Given the description of an element on the screen output the (x, y) to click on. 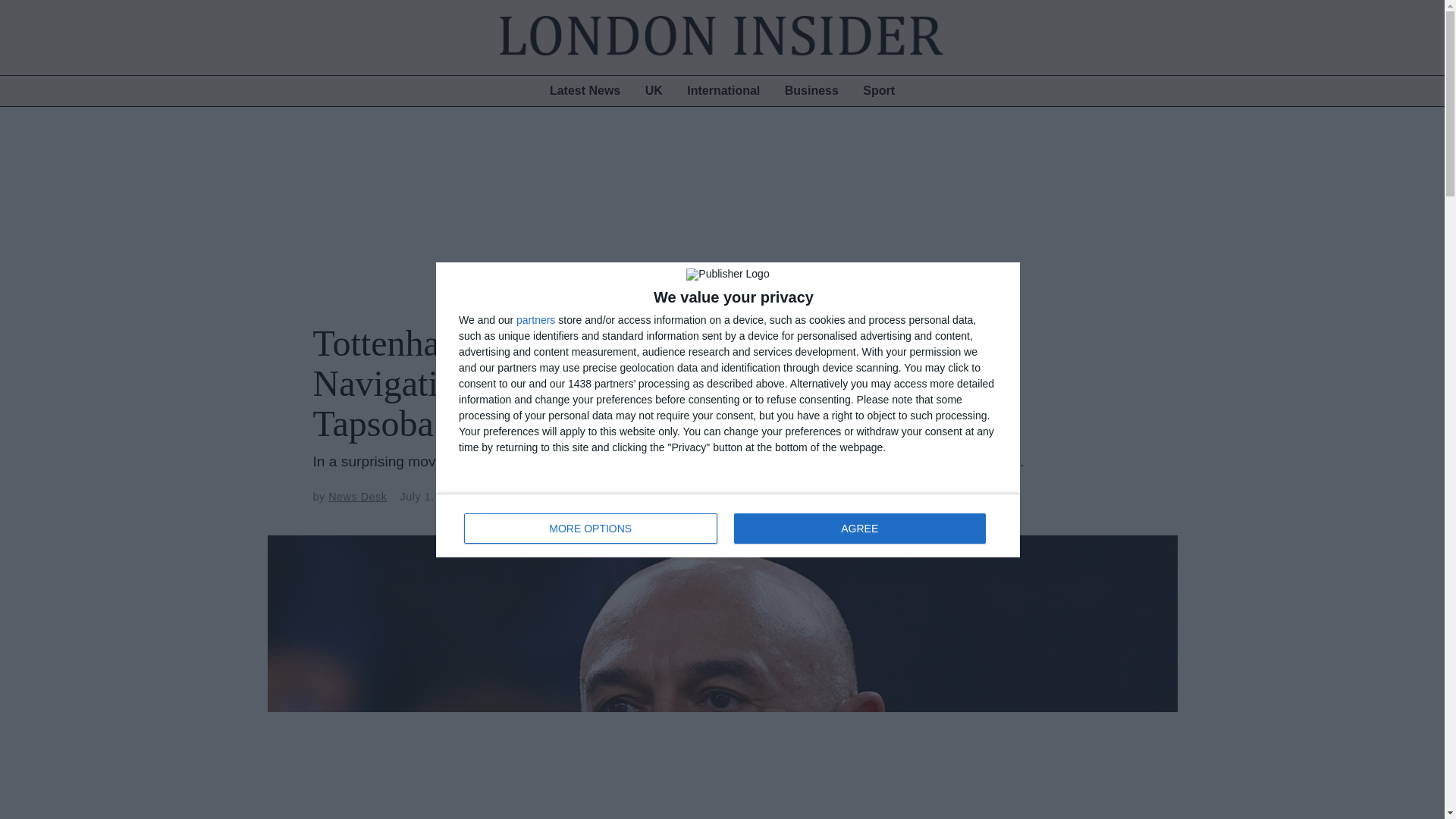
AGREE (859, 527)
Sport (878, 91)
UK (653, 91)
International (723, 91)
partners (535, 318)
MORE OPTIONS (590, 527)
Business (811, 91)
Latest News (584, 91)
News Desk (358, 496)
